Given the description of an element on the screen output the (x, y) to click on. 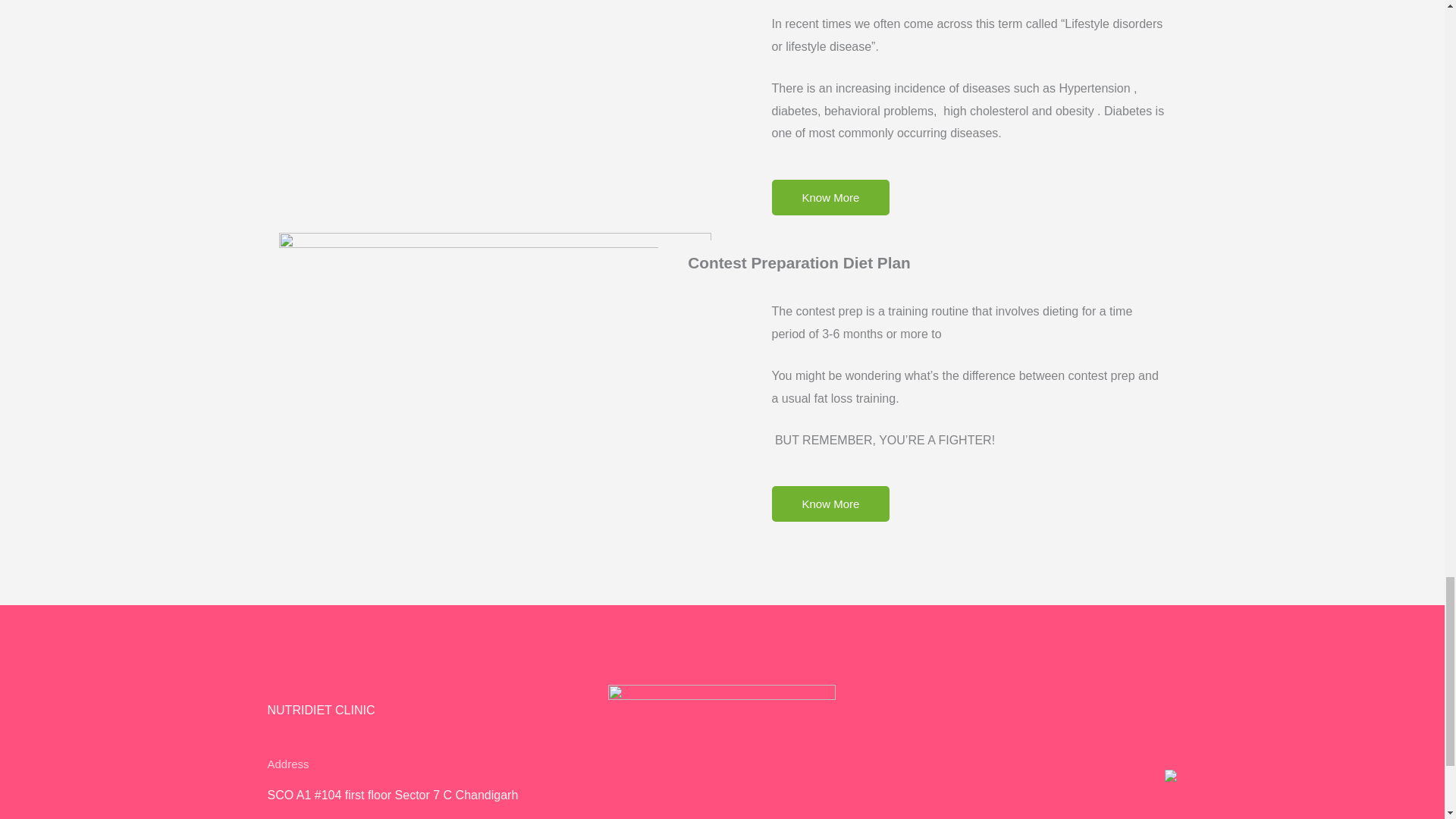
Know More (830, 503)
Know More (830, 197)
